Given the description of an element on the screen output the (x, y) to click on. 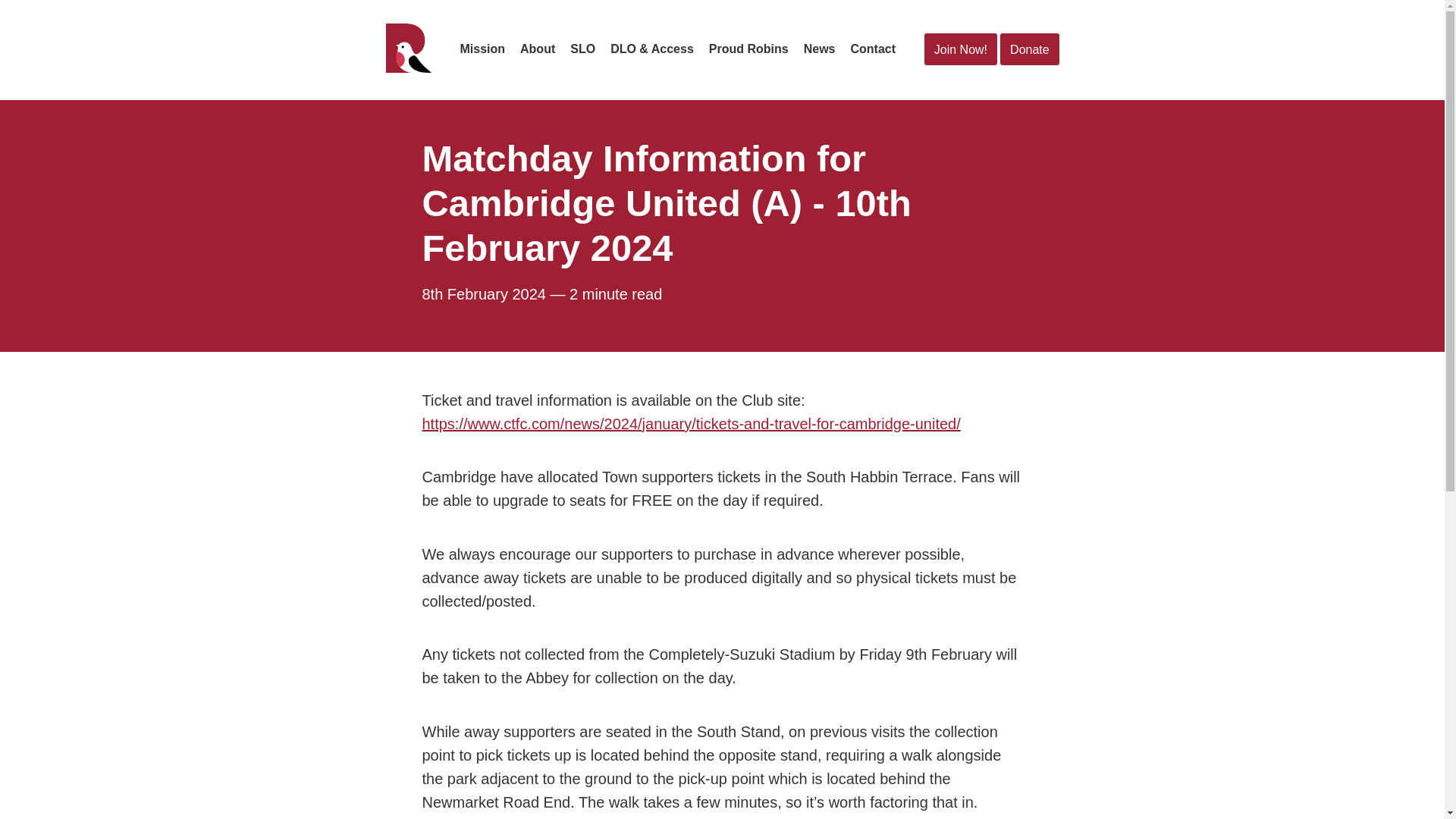
SLO (582, 48)
Mission (482, 48)
Contact (872, 48)
Donate (1029, 49)
About (536, 48)
News (819, 48)
Proud Robins (749, 48)
Join Now! (960, 49)
